Given the description of an element on the screen output the (x, y) to click on. 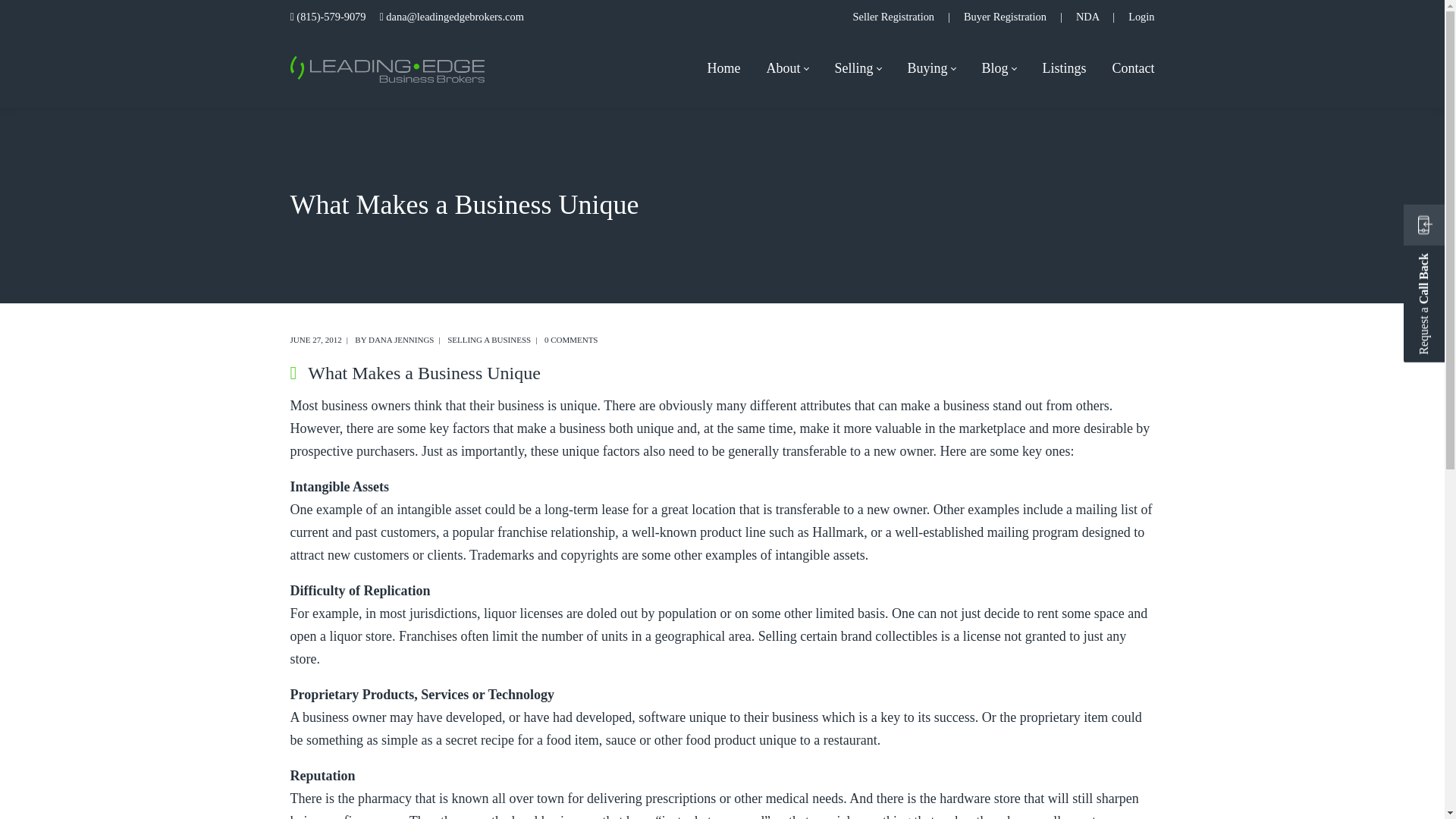
NDA (1087, 16)
Selling (857, 69)
Listings (1063, 69)
Login (1141, 16)
Home (723, 69)
Contact (1132, 69)
Buying (930, 69)
Blog (998, 69)
About (786, 69)
Buyer Registration (1004, 16)
Seller Registration (893, 16)
